Given the description of an element on the screen output the (x, y) to click on. 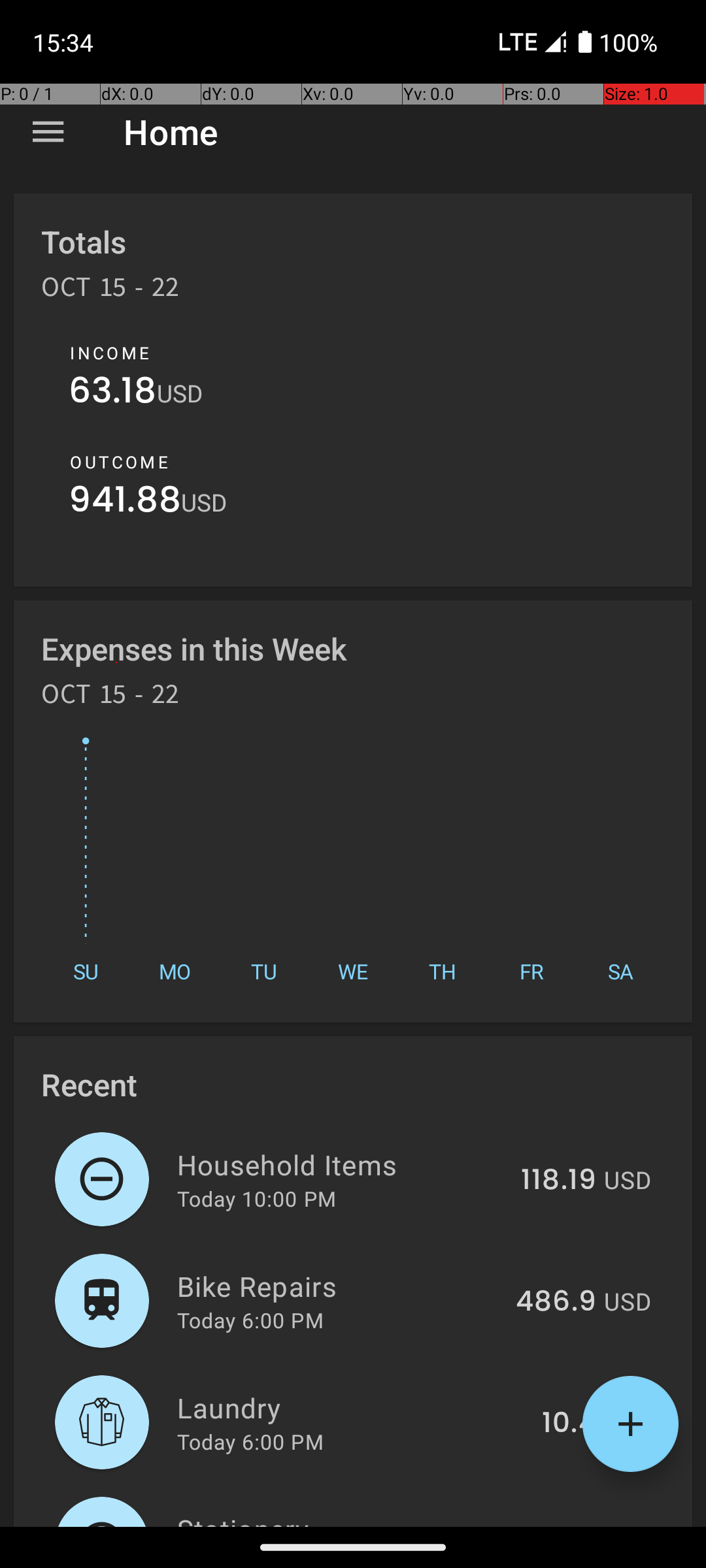
63.18 Element type: android.widget.TextView (112, 393)
941.88 Element type: android.widget.TextView (124, 502)
Household Items Element type: android.widget.TextView (341, 1164)
118.19 Element type: android.widget.TextView (558, 1180)
Bike Repairs Element type: android.widget.TextView (338, 1285)
Today 6:00 PM Element type: android.widget.TextView (250, 1320)
486.9 Element type: android.widget.TextView (555, 1301)
10.4 Element type: android.widget.TextView (568, 1423)
Stationery Element type: android.widget.TextView (331, 1518)
326.39 Element type: android.widget.TextView (548, 1524)
